Given the description of an element on the screen output the (x, y) to click on. 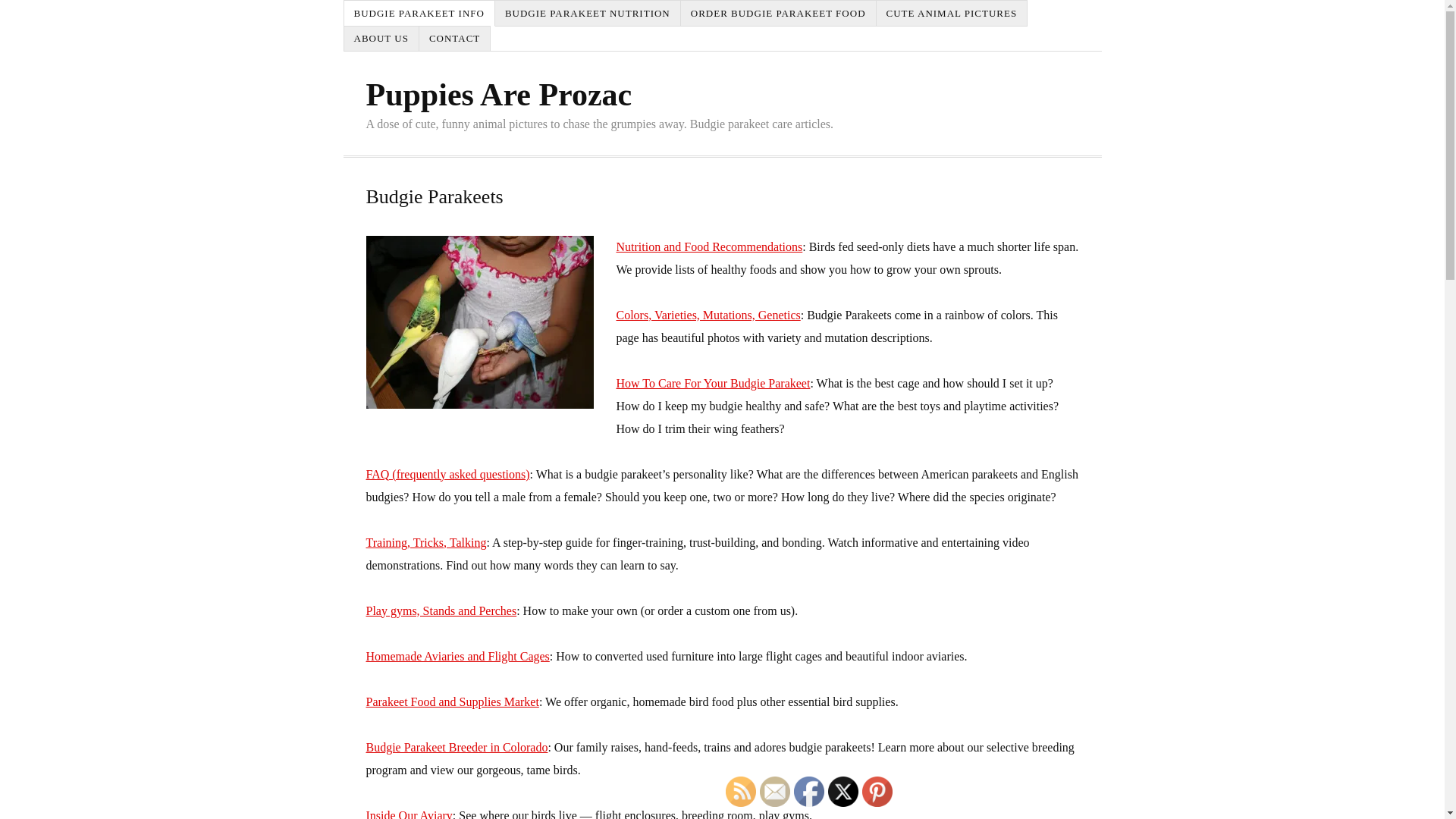
How To Care For Your Budgie Parakeet (712, 382)
Budgie Parakeet Breeder in Colorado (456, 747)
CONTACT (454, 38)
BUDGIE PARAKEET INFO (419, 13)
Inside Our Aviary (408, 814)
RSS (740, 791)
ORDER BUDGIE PARAKEET FOOD (778, 13)
Training, Tricks, Talking (425, 542)
Pinterest (876, 791)
Homemade Aviaries and Flight Cages (456, 656)
Parakeet Food and Supplies Market (451, 701)
hand tamed budgie parakeets (478, 321)
Play gyms, Stands and Perches (440, 610)
CUTE ANIMAL PICTURES (951, 13)
BUDGIE PARAKEET NUTRITION (588, 13)
